Given the description of an element on the screen output the (x, y) to click on. 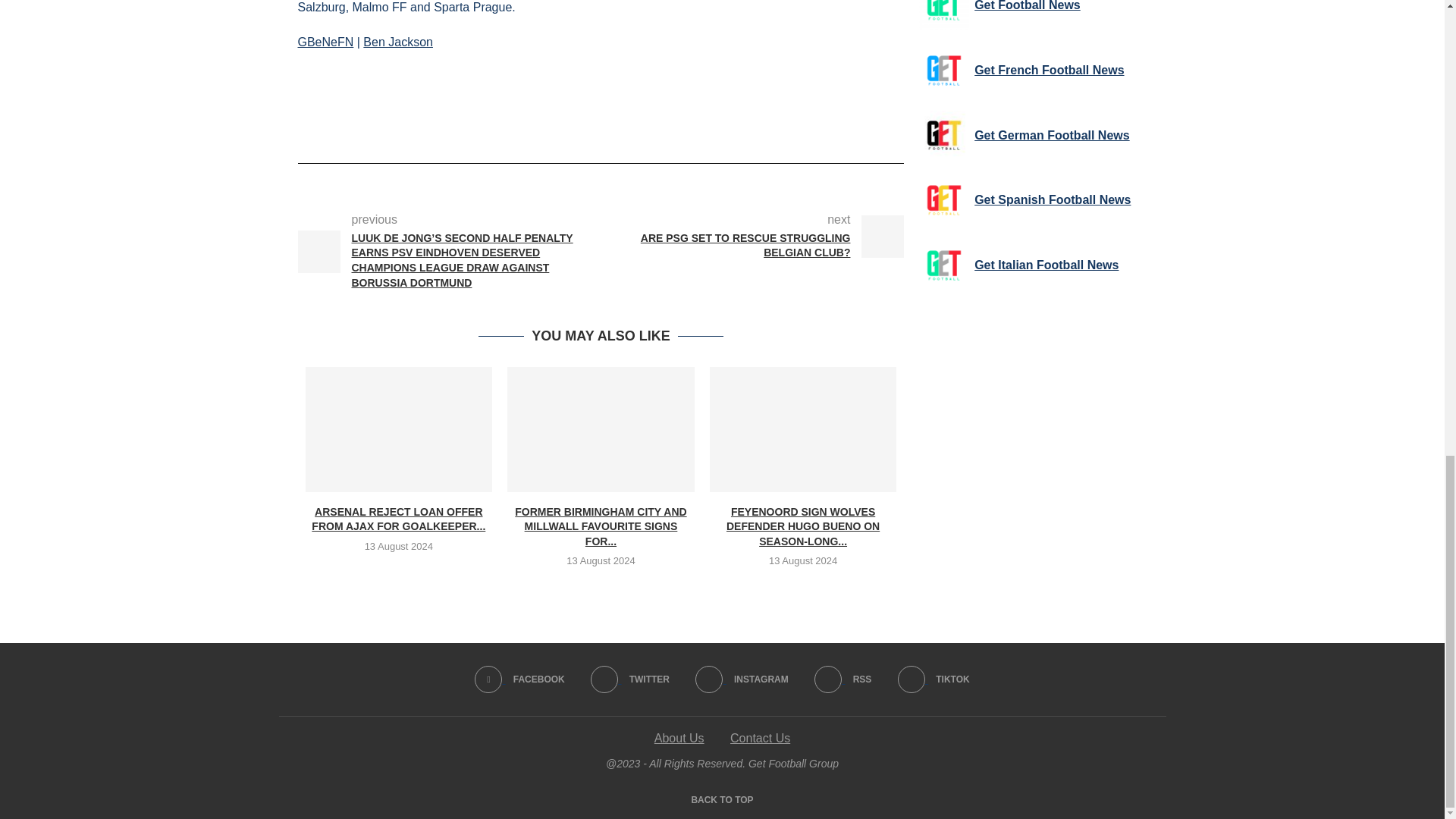
Get German Football News (943, 135)
Get Italian Football News (943, 265)
Get French Football News (943, 70)
Get Spanish Football News (943, 200)
Get Football News (943, 15)
